Given the description of an element on the screen output the (x, y) to click on. 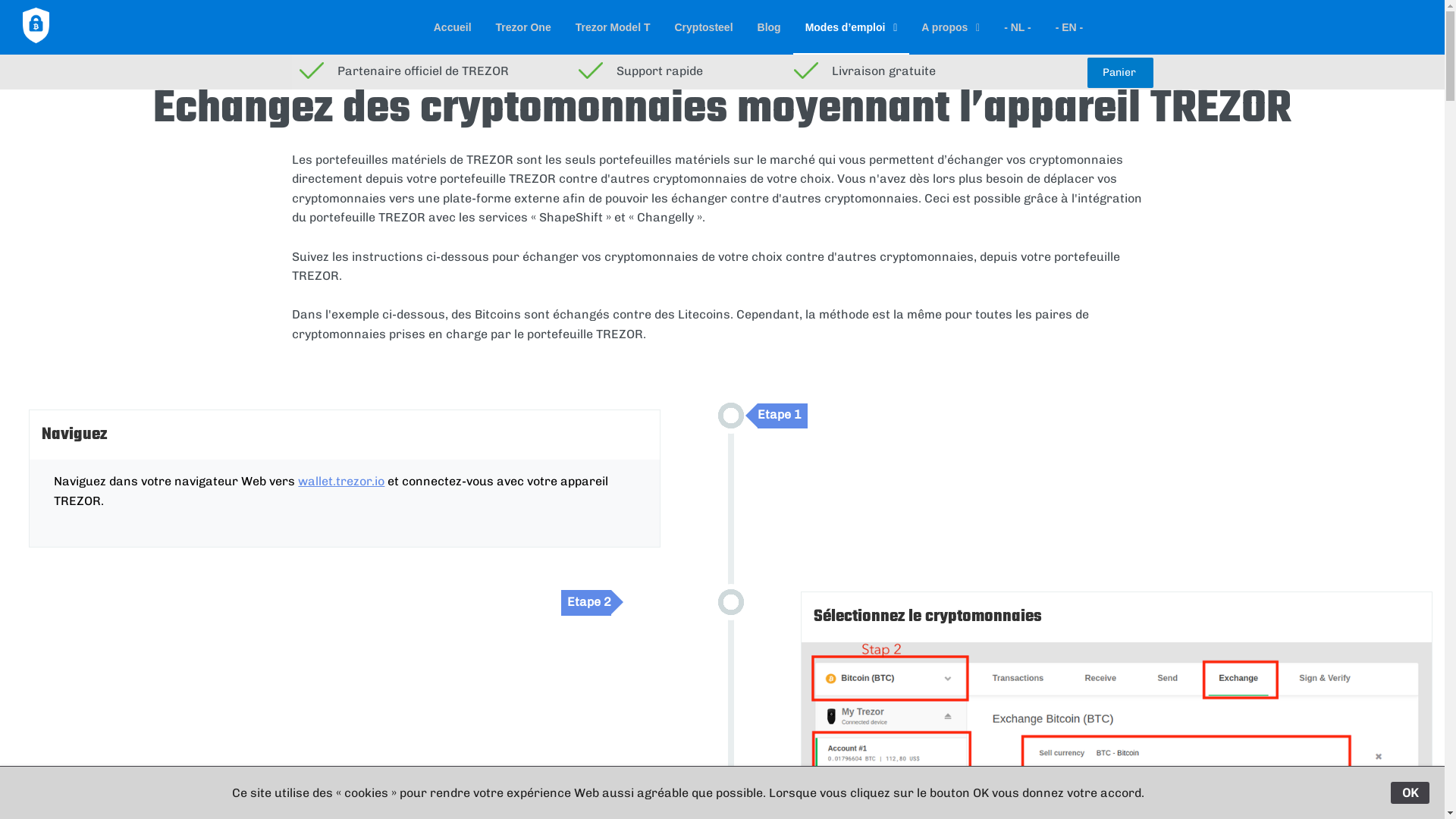
Support rapide Element type: text (685, 67)
wallet.trezor.io Element type: text (341, 480)
Trezor Model T Element type: text (612, 27)
Cryptosteel Element type: text (703, 27)
OK Element type: text (1409, 792)
Trezor One Element type: text (523, 27)
- EN - Element type: text (1069, 27)
Livraison gratuite Element type: text (901, 67)
Blog Element type: text (769, 27)
- NL - Element type: text (1017, 27)
Panier  Element type: text (1120, 72)
Accueil Element type: text (452, 27)
